Given the description of an element on the screen output the (x, y) to click on. 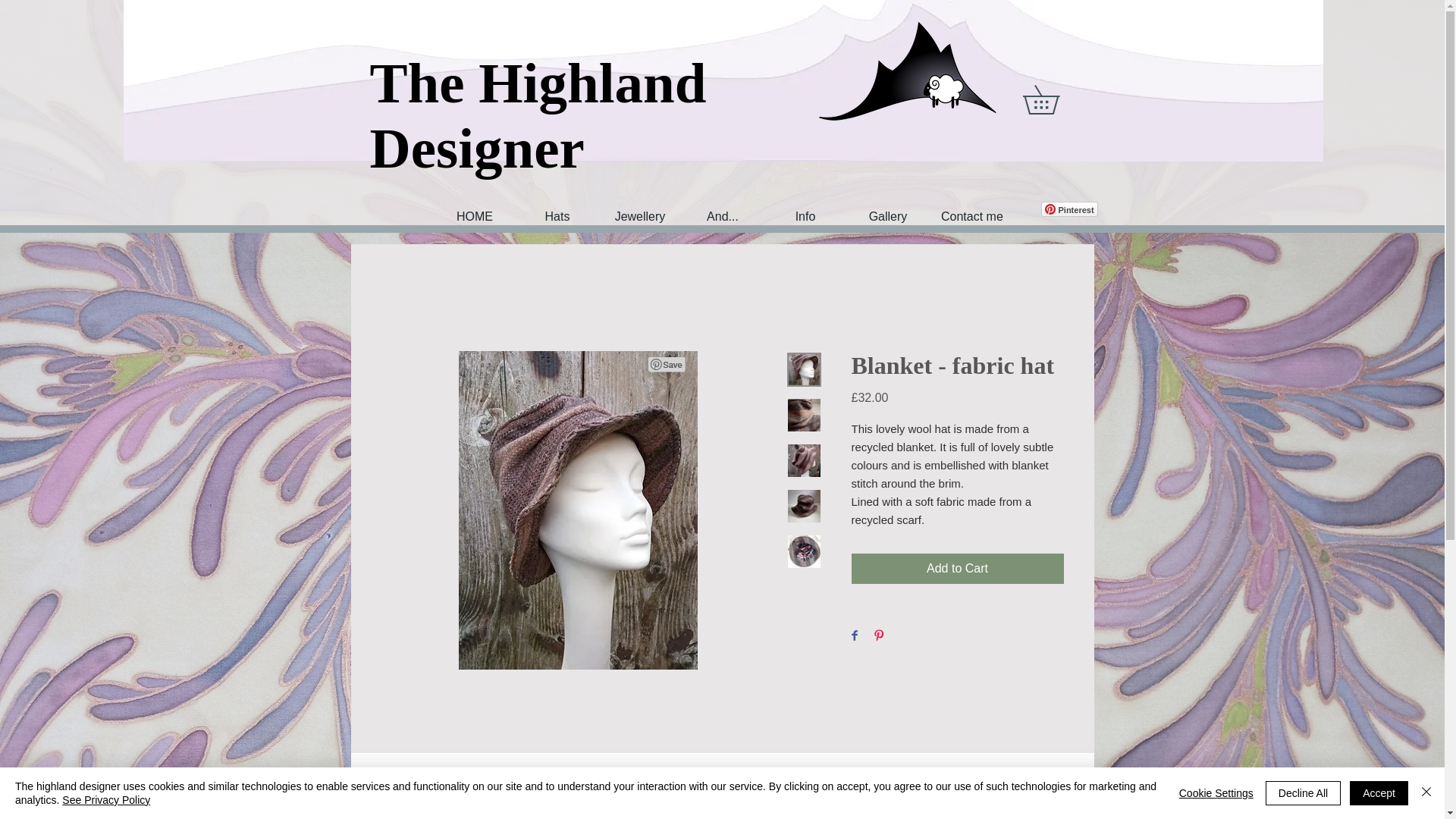
Pinterest (1069, 209)
Facebook Like (1003, 209)
And... (721, 215)
PRODUCT INFO (721, 801)
Add to Cart (956, 568)
HOME (473, 215)
Pin to Pinterest (666, 364)
Jewellery (639, 215)
Gallery (886, 215)
Hats (556, 215)
Pinterest (1069, 209)
Info (803, 215)
Contact me (969, 215)
